Given the description of an element on the screen output the (x, y) to click on. 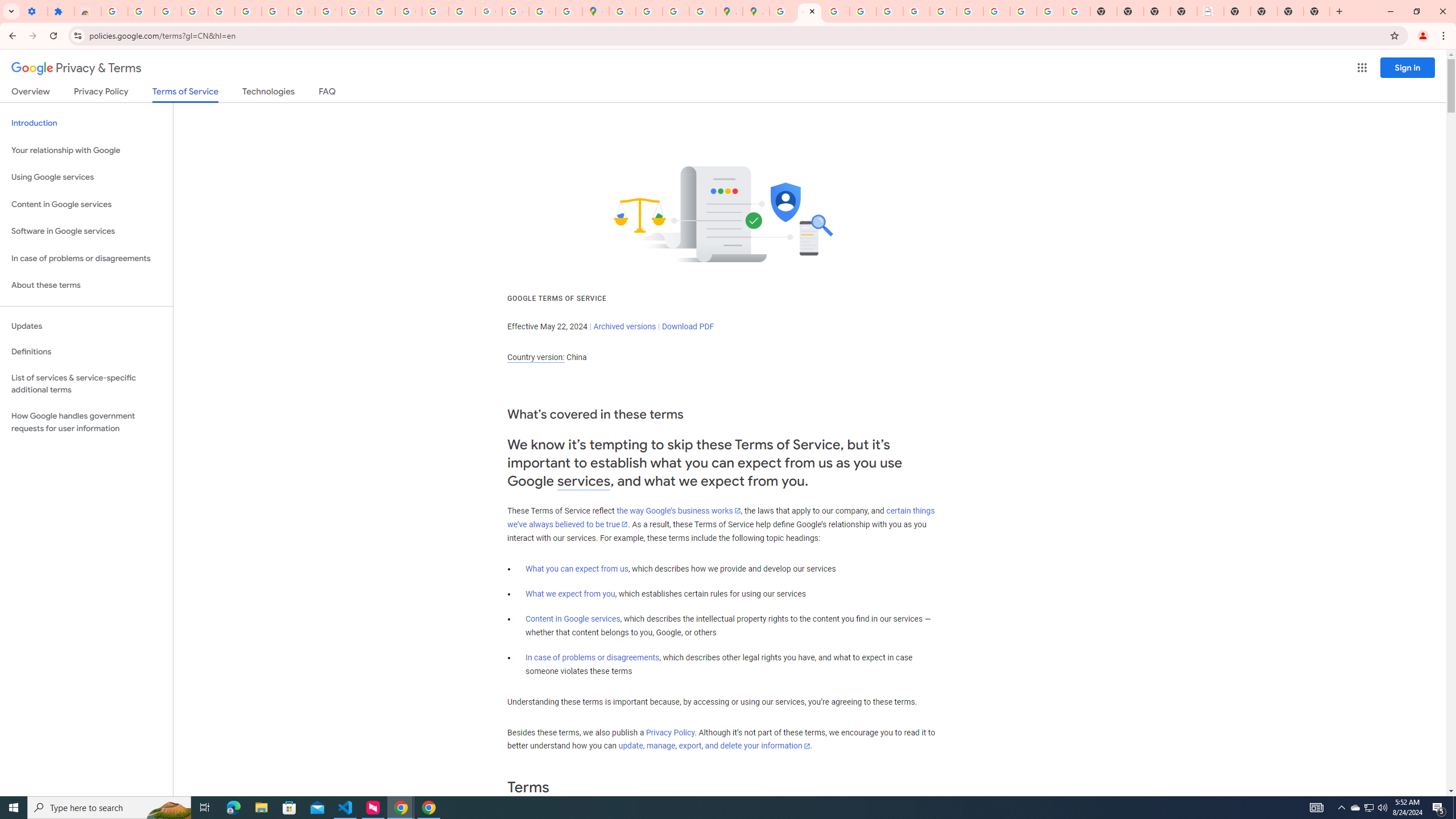
Introduction (86, 122)
List of services & service-specific additional terms (86, 383)
Software in Google services (86, 230)
YouTube (943, 11)
Sign in - Google Accounts (782, 11)
